Given the description of an element on the screen output the (x, y) to click on. 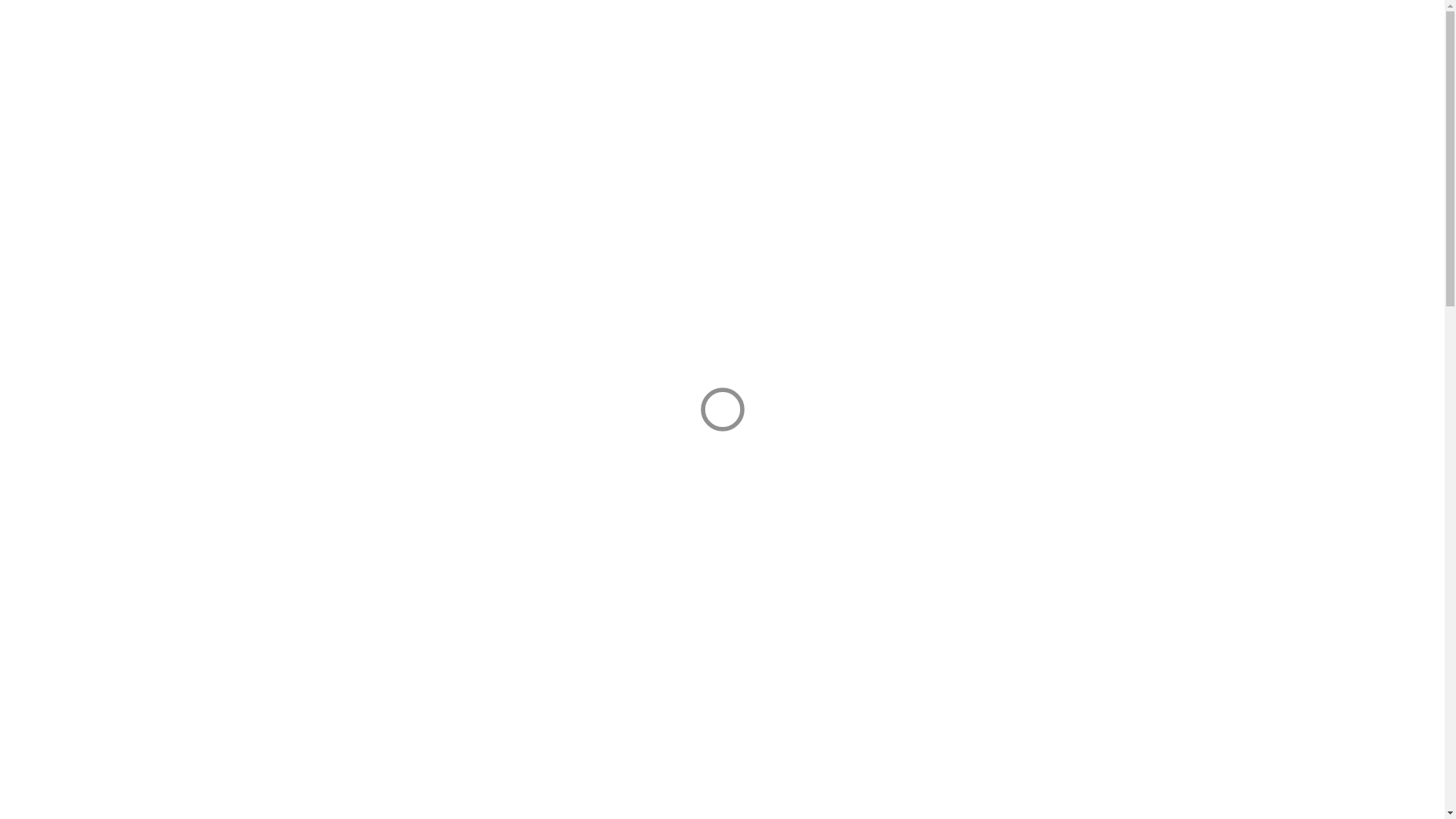
REGISTER Element type: text (860, 227)
LOGIN Element type: text (860, 280)
GET STARTED Element type: text (933, 41)
HOME Element type: text (860, 41)
PLANS Element type: text (1066, 41)
SUPPORT Element type: text (1129, 41)
Forgot Password Element type: text (770, 317)
ABOUT Element type: text (1008, 41)
